Given the description of an element on the screen output the (x, y) to click on. 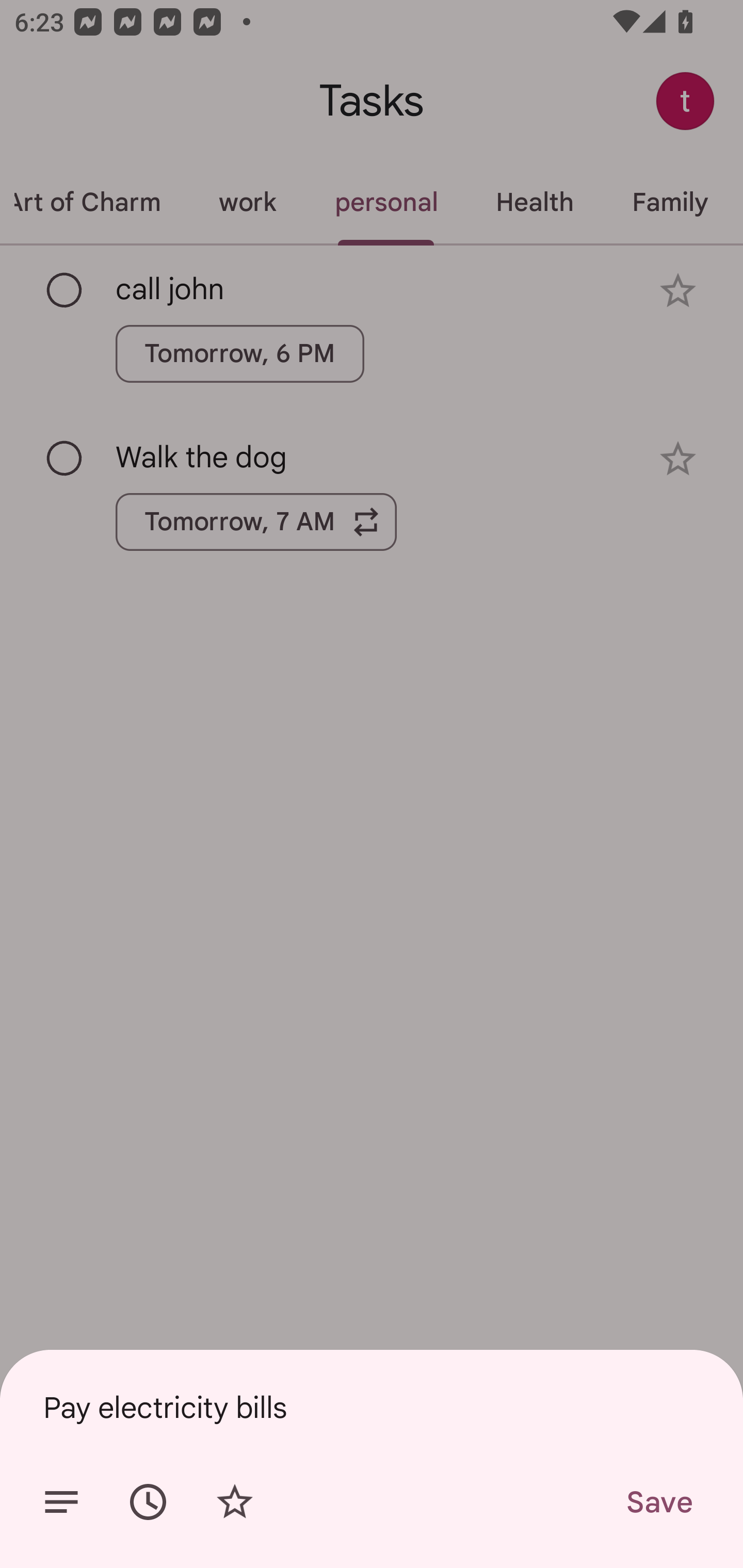
Pay electricity bills (371, 1407)
Save (659, 1501)
Add details (60, 1501)
Set date/time (147, 1501)
Add star (234, 1501)
